Given the description of an element on the screen output the (x, y) to click on. 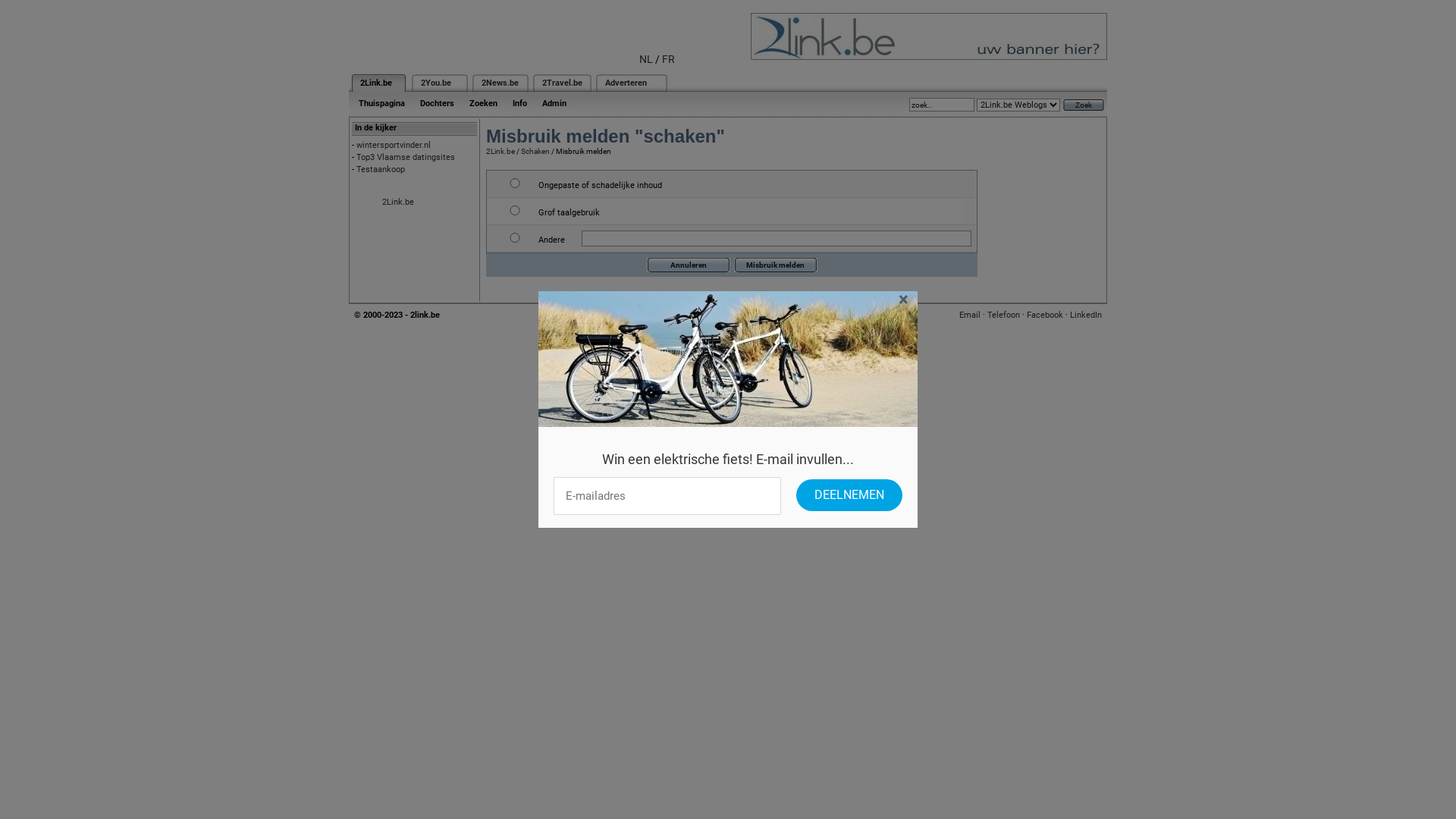
FR Element type: text (668, 59)
2Link.be Element type: text (398, 202)
Top3 Vlaamse datingsites Element type: text (405, 157)
Admin Element type: text (554, 103)
Adverteren Element type: text (625, 82)
2You.be Element type: text (435, 82)
Misbruik melden Element type: text (775, 264)
Zoeken Element type: text (483, 103)
Info Element type: text (519, 103)
NL Element type: text (645, 59)
LinkedIn Element type: text (1085, 315)
Schaken Element type: text (534, 151)
Thuispagina Element type: text (381, 103)
Testaankoop Element type: text (380, 169)
wintersportvinder.nl Element type: text (393, 145)
Zoek Element type: text (1083, 103)
Facebook Element type: text (1044, 315)
2News.be Element type: text (499, 82)
Dochters Element type: text (436, 103)
Email Element type: text (969, 315)
2Travel.be Element type: text (562, 82)
2Link.be Element type: text (500, 151)
Telefoon Element type: text (1003, 315)
2Link.be Element type: text (376, 82)
